Given the description of an element on the screen output the (x, y) to click on. 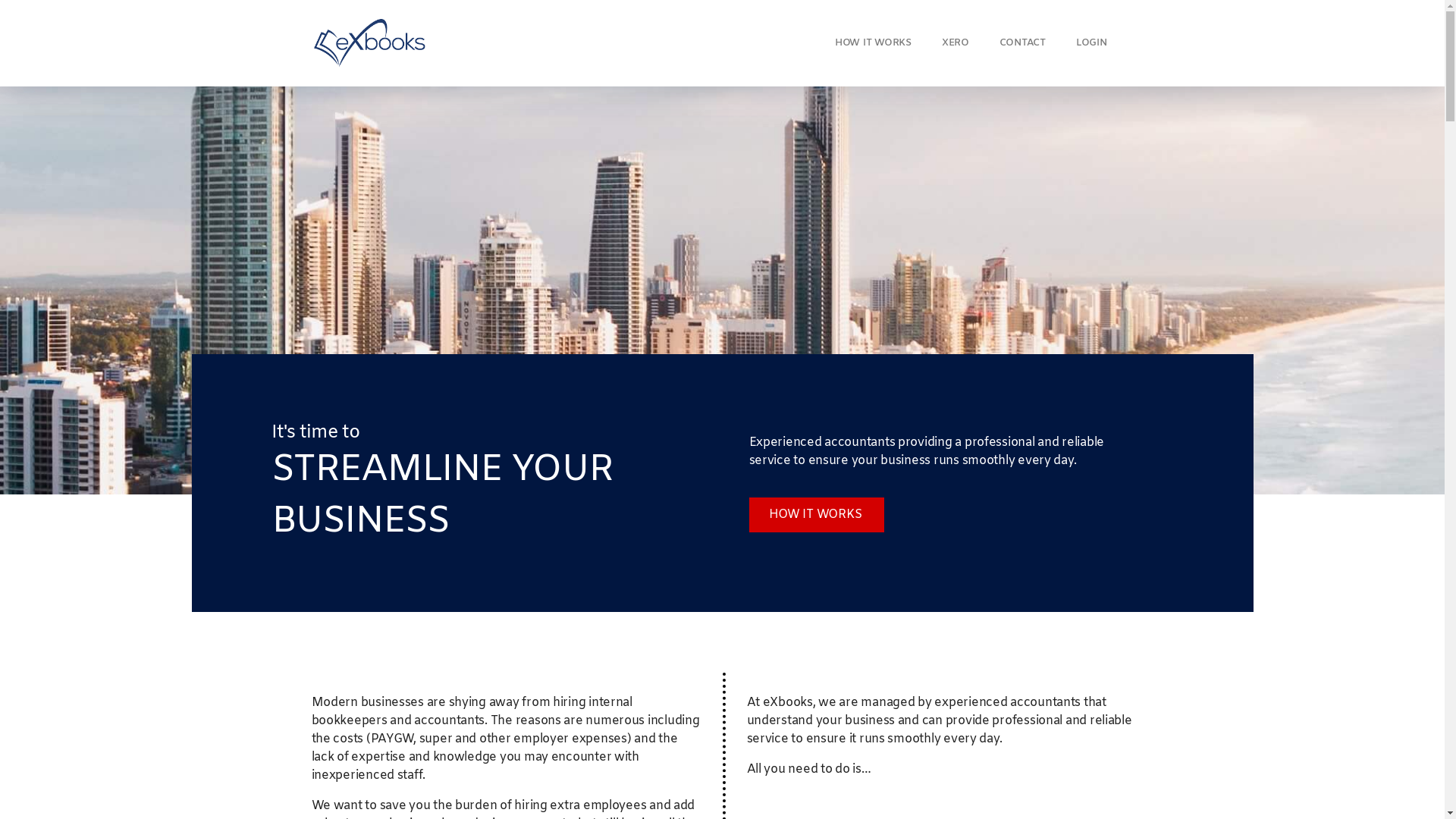
XERO Element type: text (955, 42)
HOW IT WORKS Element type: text (816, 514)
CONTACT Element type: text (1022, 42)
LOGIN Element type: text (1091, 42)
HOW IT WORKS Element type: text (872, 42)
